Given the description of an element on the screen output the (x, y) to click on. 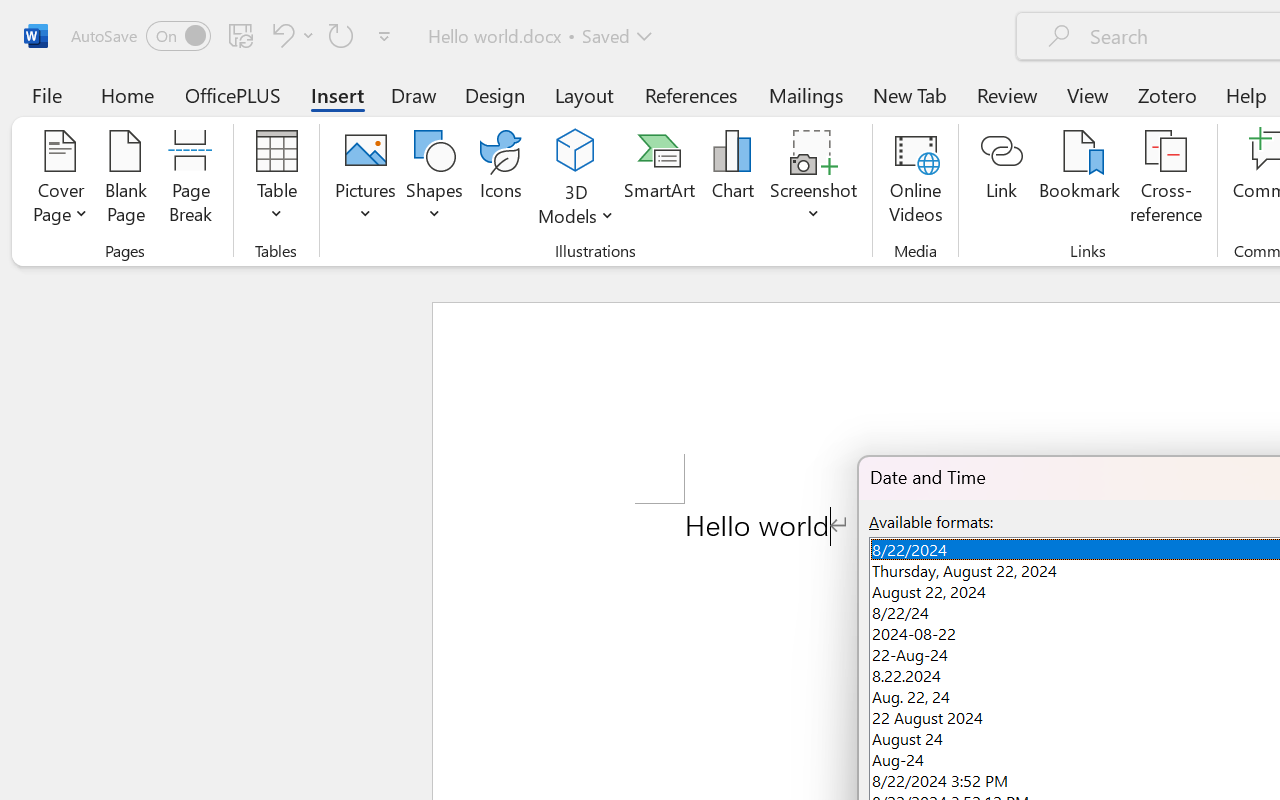
Chart... (732, 179)
Draw (413, 94)
Can't Undo (280, 35)
Screenshot (813, 179)
Page Break (190, 179)
Cross-reference... (1165, 179)
Can't Undo (290, 35)
Cover Page (60, 179)
OfficePLUS (233, 94)
AutoSave (140, 35)
Blank Page (125, 179)
File Tab (46, 94)
More Options (576, 208)
